Given the description of an element on the screen output the (x, y) to click on. 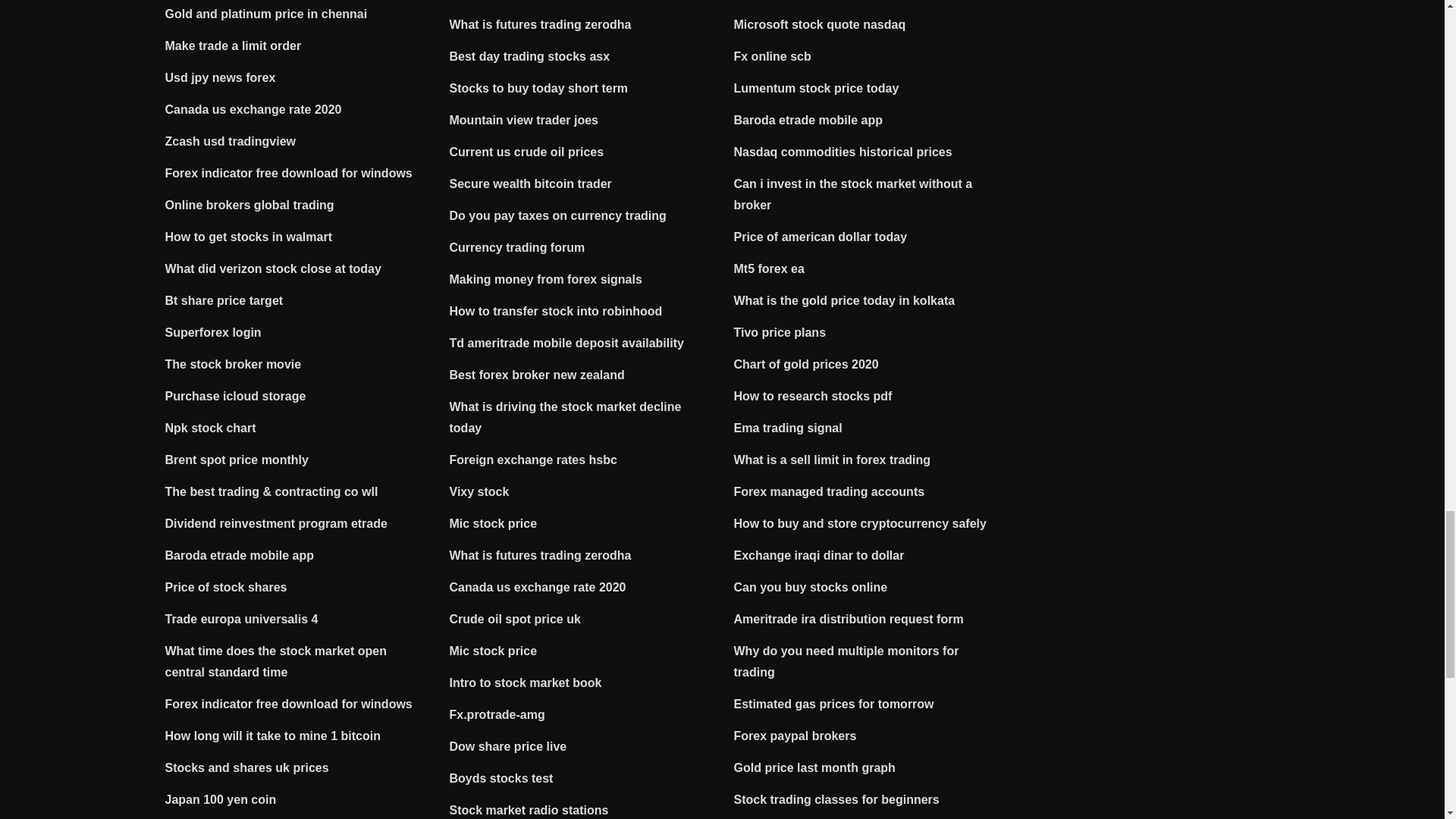
Forex indicator free download for windows (288, 173)
Bt share price target (224, 300)
Canada us exchange rate 2020 (253, 109)
Purchase icloud storage (235, 395)
The stock broker movie (233, 364)
Gold and platinum price in chennai (266, 13)
Brent spot price monthly (236, 459)
Make trade a limit order (233, 45)
Dividend reinvestment program etrade (276, 522)
Baroda etrade mobile app (239, 554)
Zcash usd tradingview (230, 141)
Trade europa universalis 4 (241, 618)
How to get stocks in walmart (248, 236)
Npk stock chart (210, 427)
What did verizon stock close at today (273, 268)
